Given the description of an element on the screen output the (x, y) to click on. 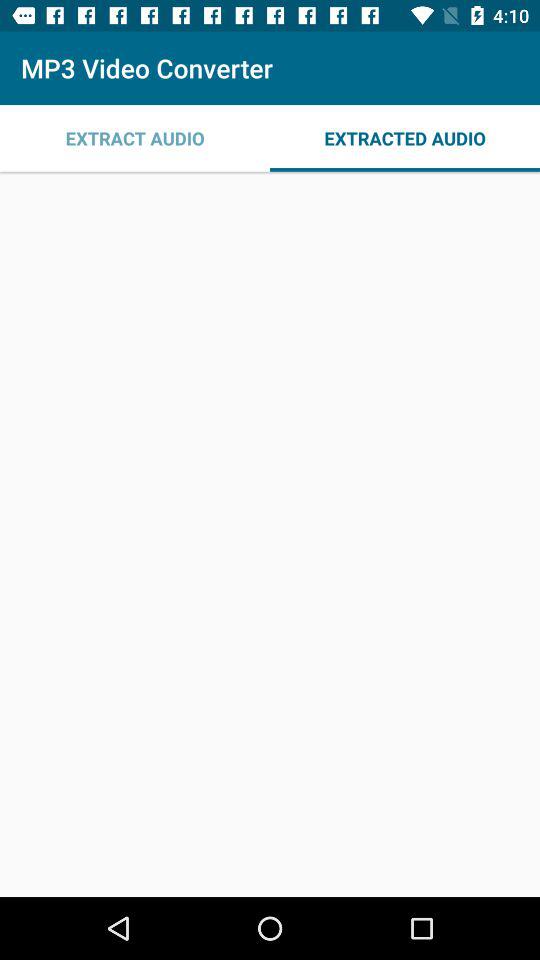
choose icon at the top right corner (405, 138)
